Given the description of an element on the screen output the (x, y) to click on. 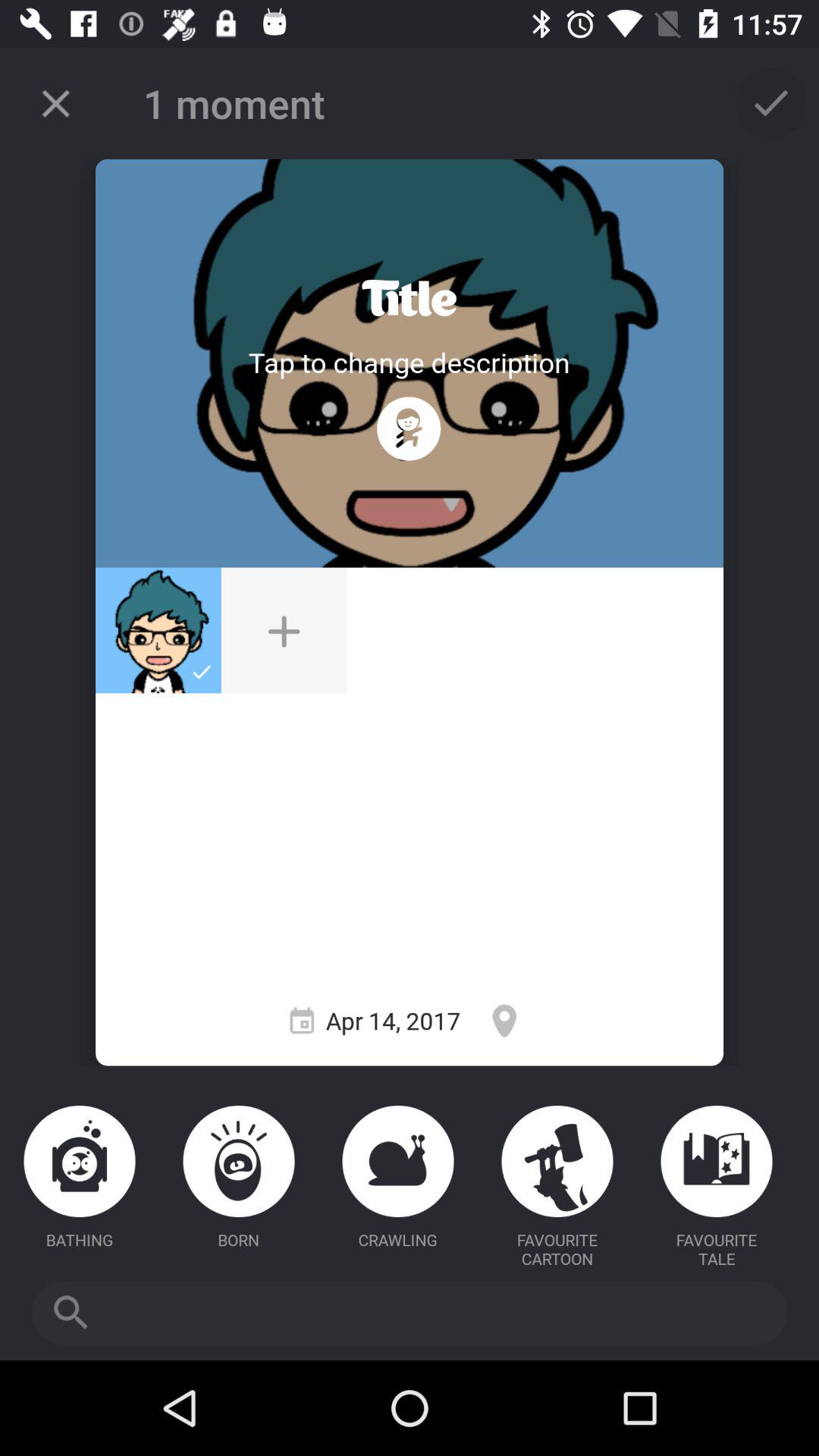
add a title to the post (408, 298)
